Given the description of an element on the screen output the (x, y) to click on. 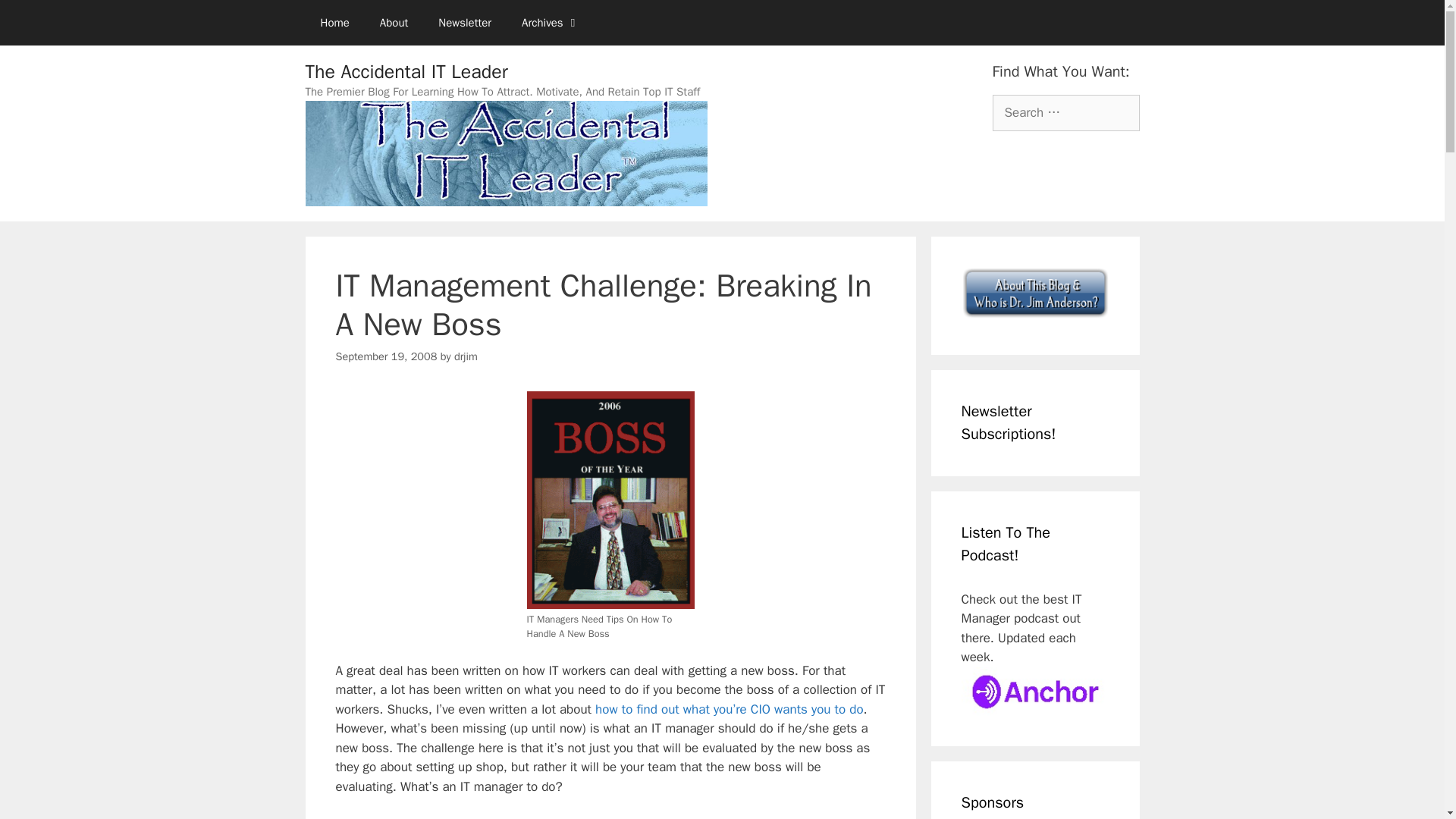
About (394, 22)
Home (334, 22)
Newsletter (464, 22)
What's your CIO's top priority for 2008? (729, 709)
drjim (465, 356)
IT Managers Need Tips On How To Handle A New Boss (609, 500)
Search (35, 18)
The Accidental IT Leader (405, 71)
Search for: (1064, 113)
Archives (550, 22)
View all posts by drjim (465, 356)
